Given the description of an element on the screen output the (x, y) to click on. 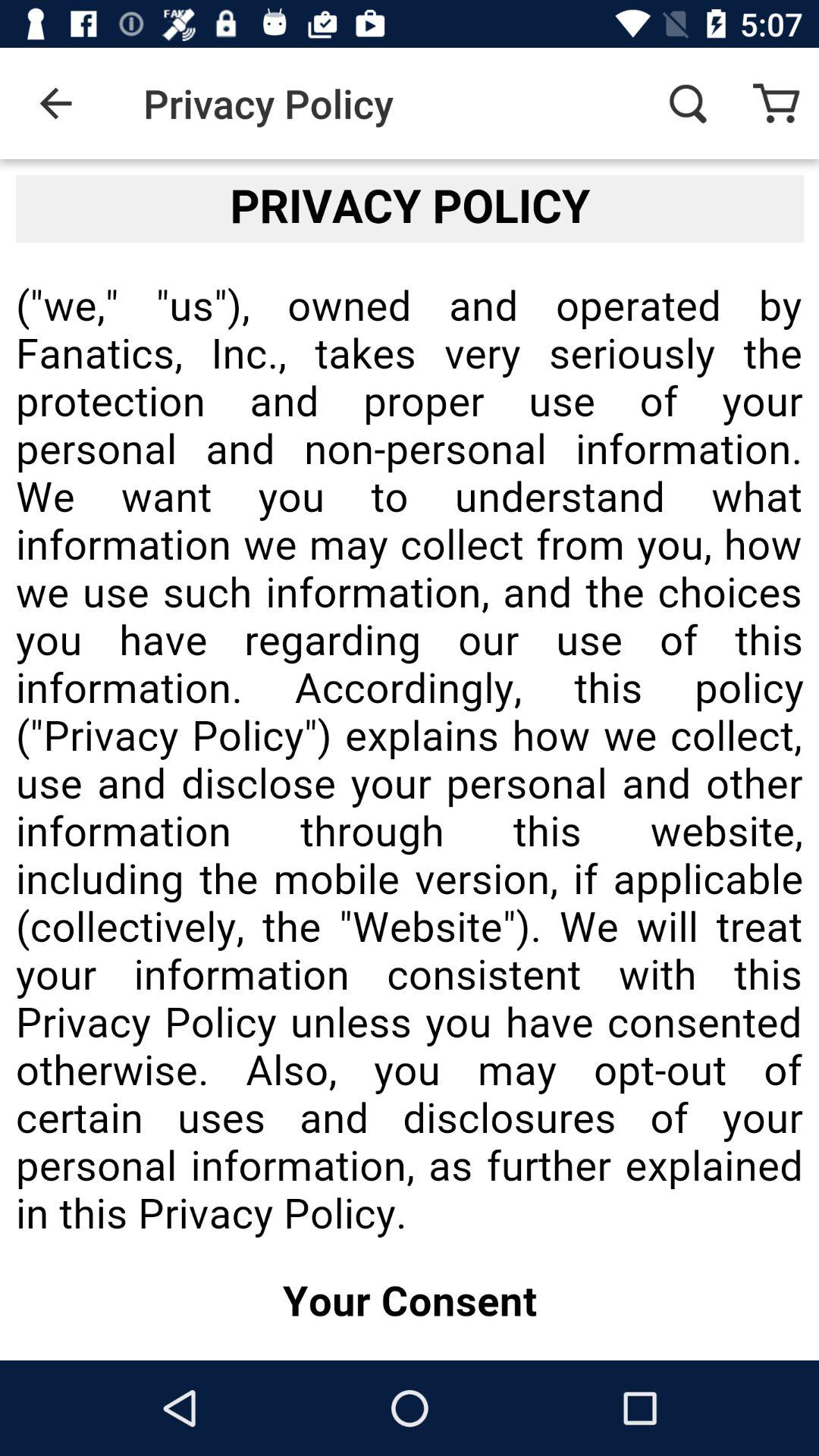
turn off the item to the right of privacy policy icon (687, 103)
